Given the description of an element on the screen output the (x, y) to click on. 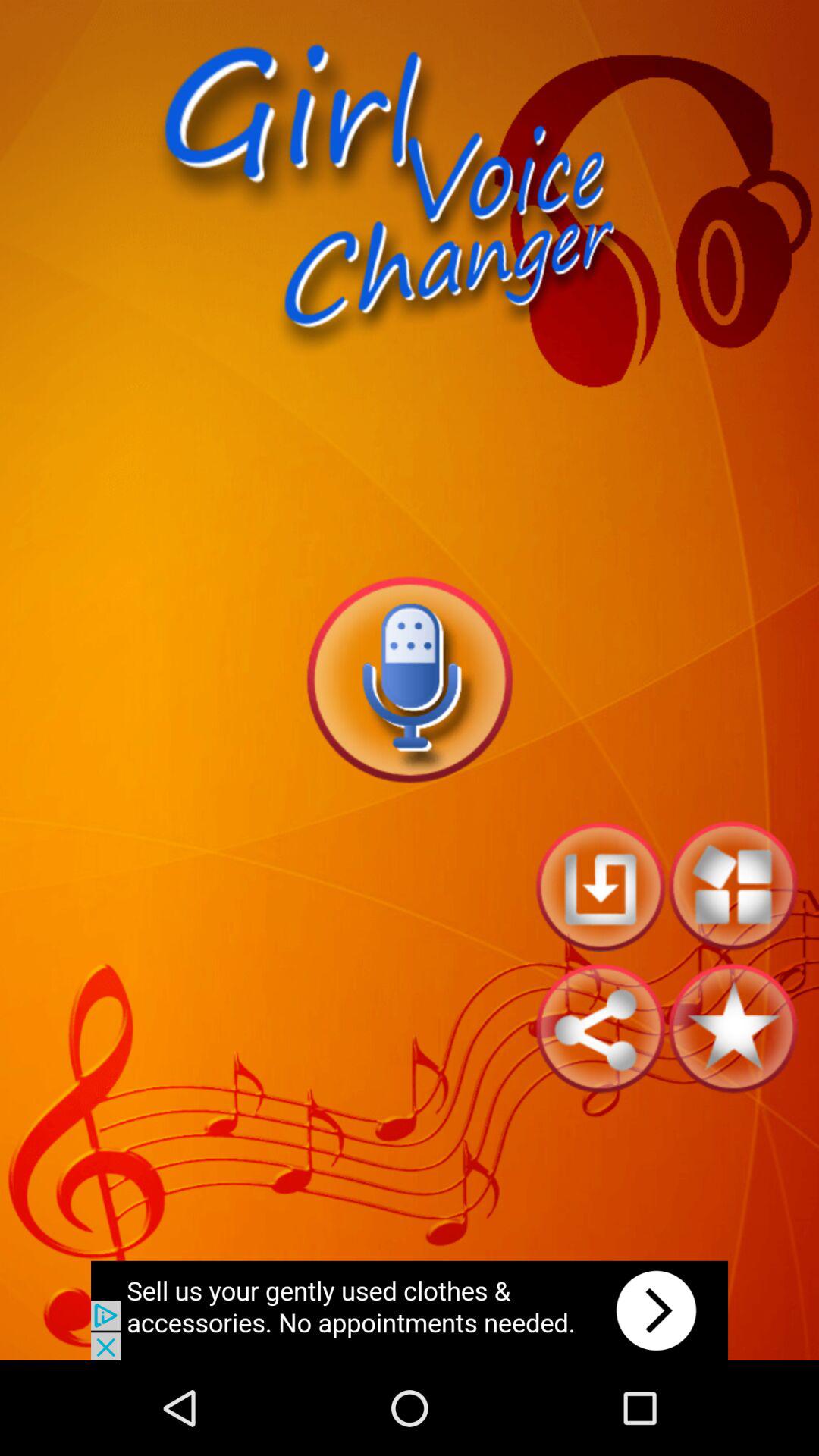
select advertisement (409, 1310)
